Given the description of an element on the screen output the (x, y) to click on. 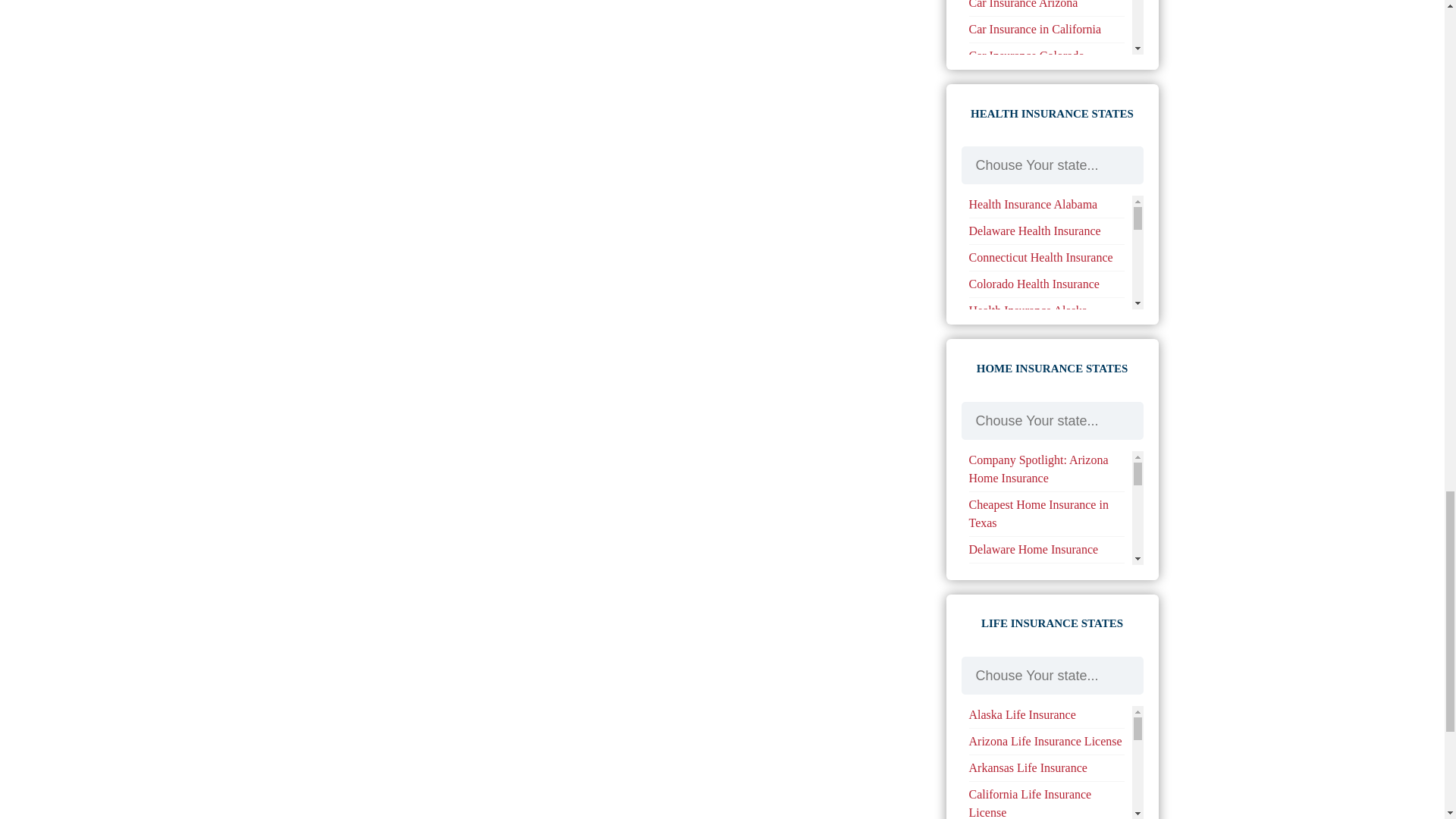
Car Insurance in Arkansas (1032, 179)
Car Insurance in Mississippi (1038, 205)
Car Insurance in in Florida in 2020 (1040, 117)
Car Insurance Delaware (1027, 82)
Car Insurance in California (1035, 29)
Car Insurance Arizona (1023, 4)
Car Insurance Delaware (1027, 82)
Car Insurance in Arkansas (1032, 179)
Car Insurance Arizona (1023, 4)
Car Insurance Idaho (1018, 153)
